Given the description of an element on the screen output the (x, y) to click on. 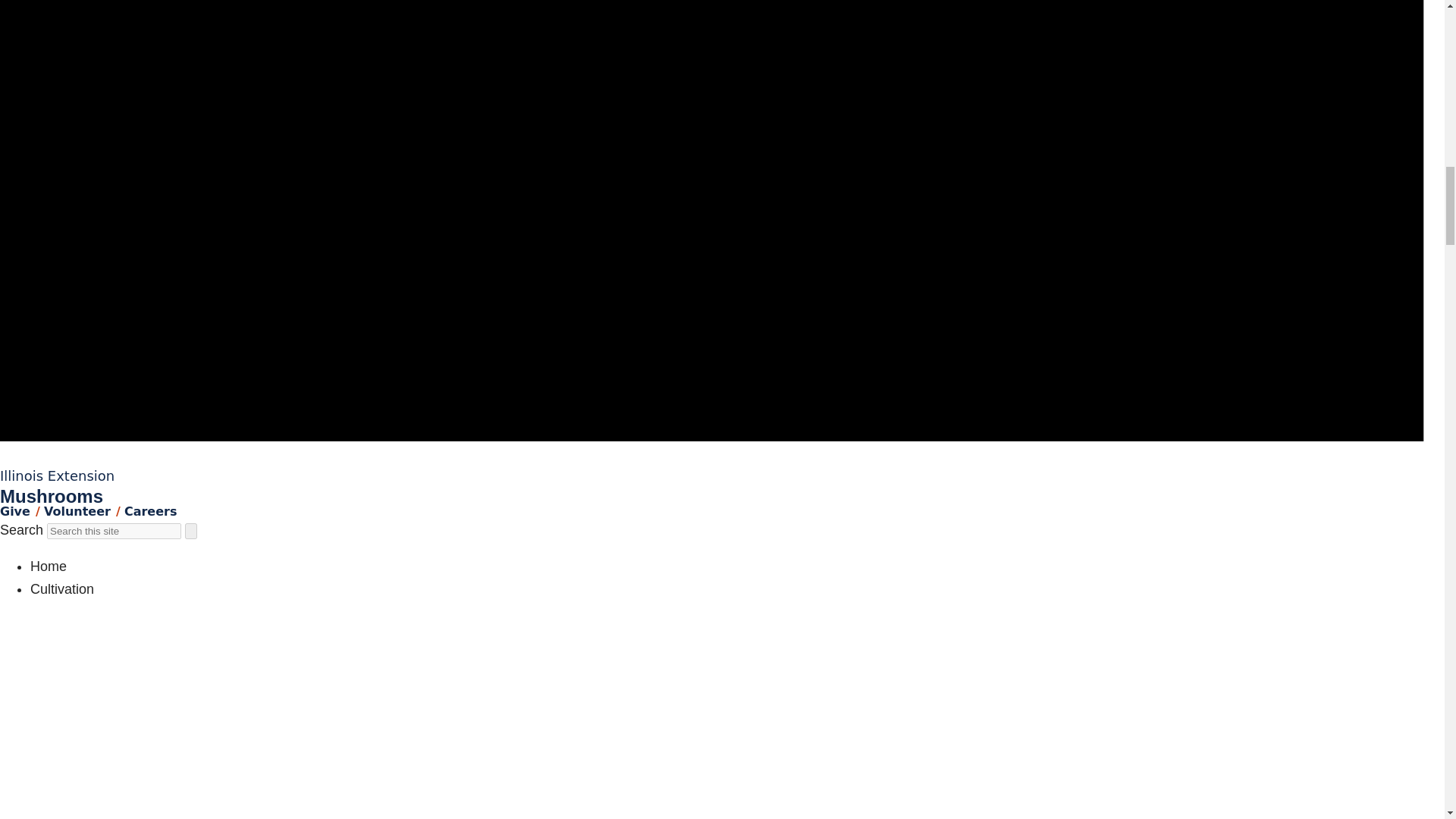
Illinois Extension (57, 475)
Careers (150, 511)
Home (48, 566)
Give (15, 511)
Mushrooms (51, 496)
Cultivation (62, 589)
Volunteer (76, 511)
